Given the description of an element on the screen output the (x, y) to click on. 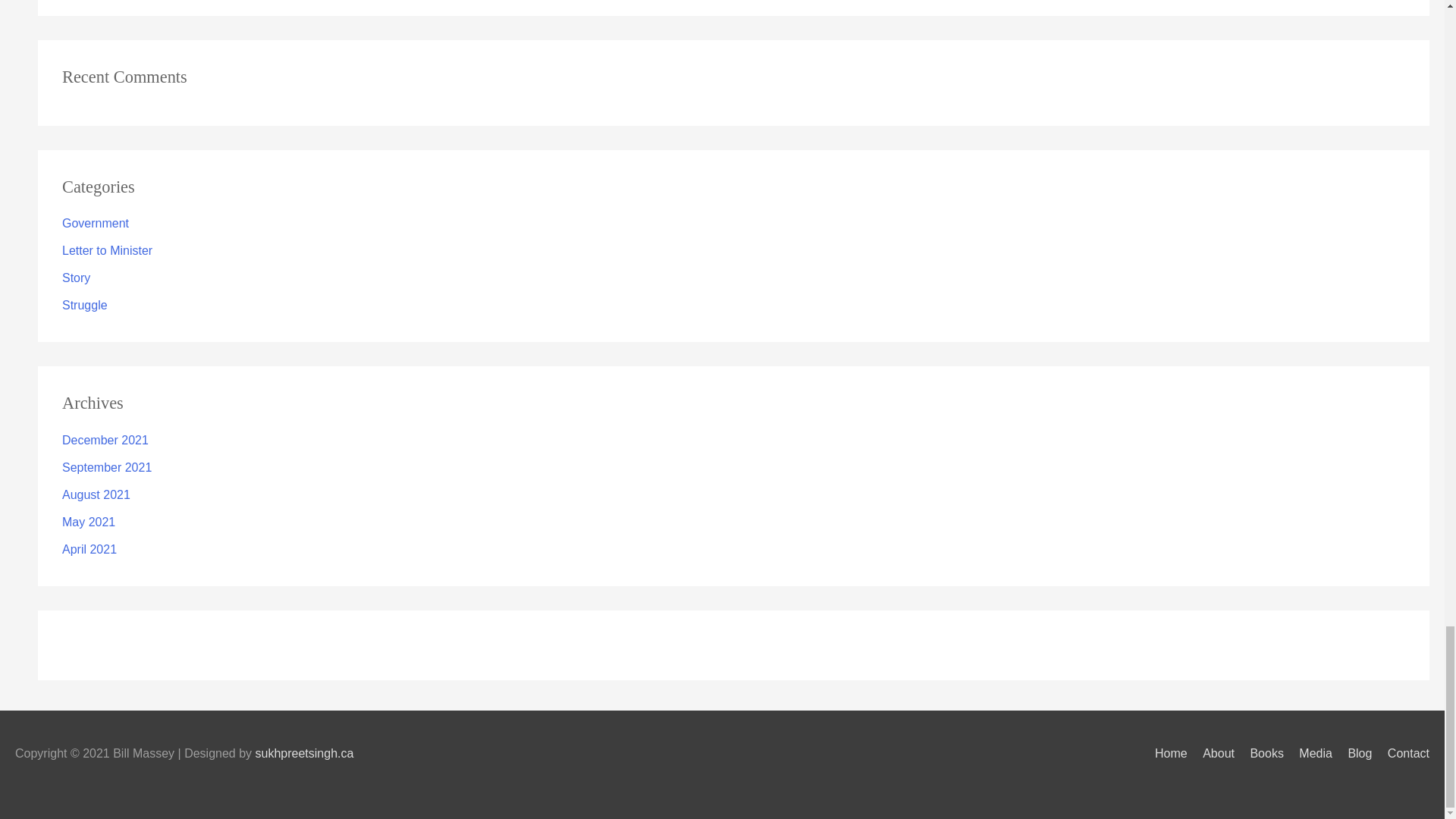
September 2021 (106, 467)
About (1212, 753)
December 2021 (105, 440)
Home (1165, 753)
Blog (1353, 753)
sukhpreetsingh.ca (304, 753)
Letter to Minister (107, 250)
Books (1259, 753)
Media (1309, 753)
May 2021 (88, 521)
